Given the description of an element on the screen output the (x, y) to click on. 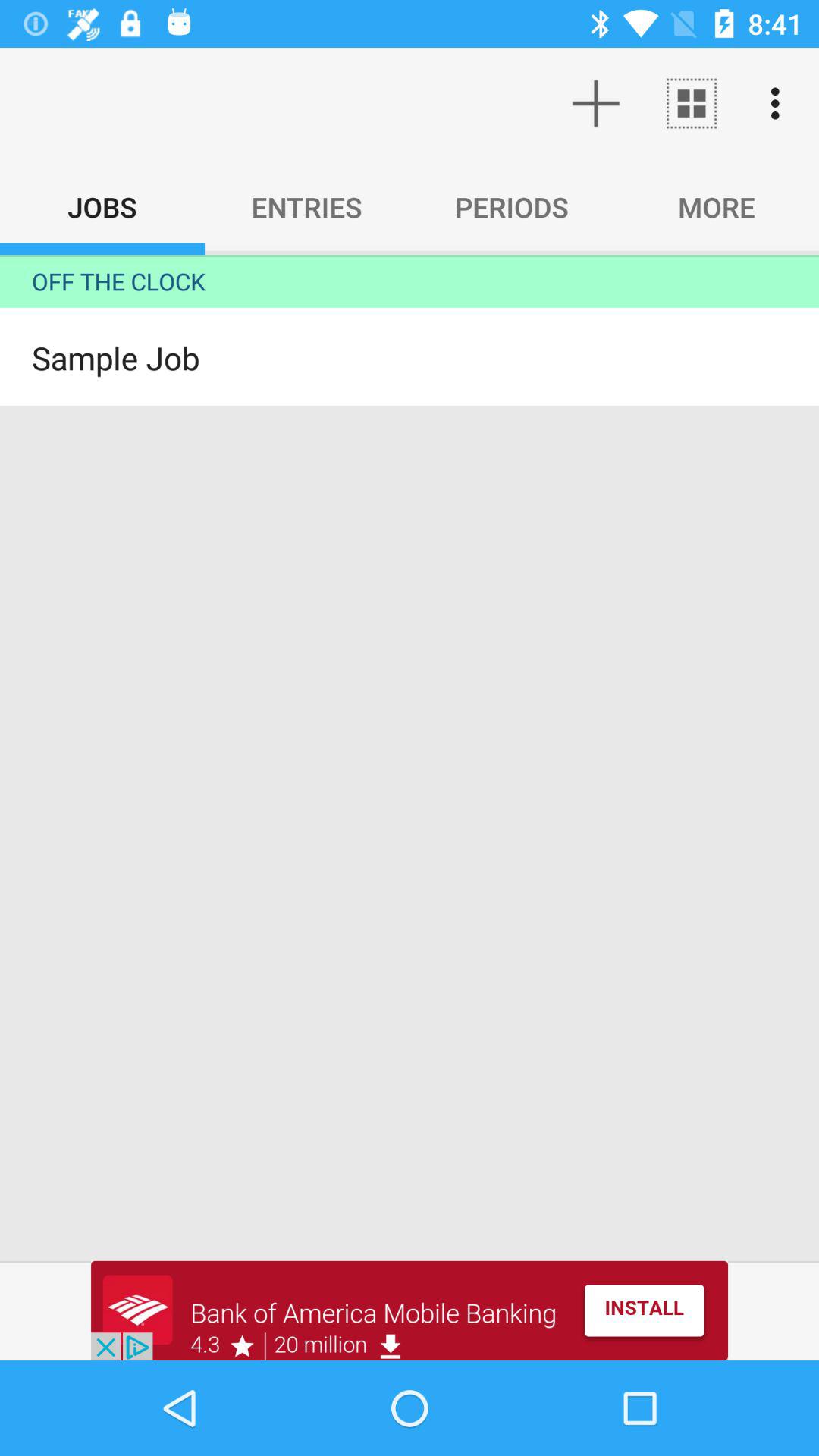
toggle advertisement (409, 1310)
